Given the description of an element on the screen output the (x, y) to click on. 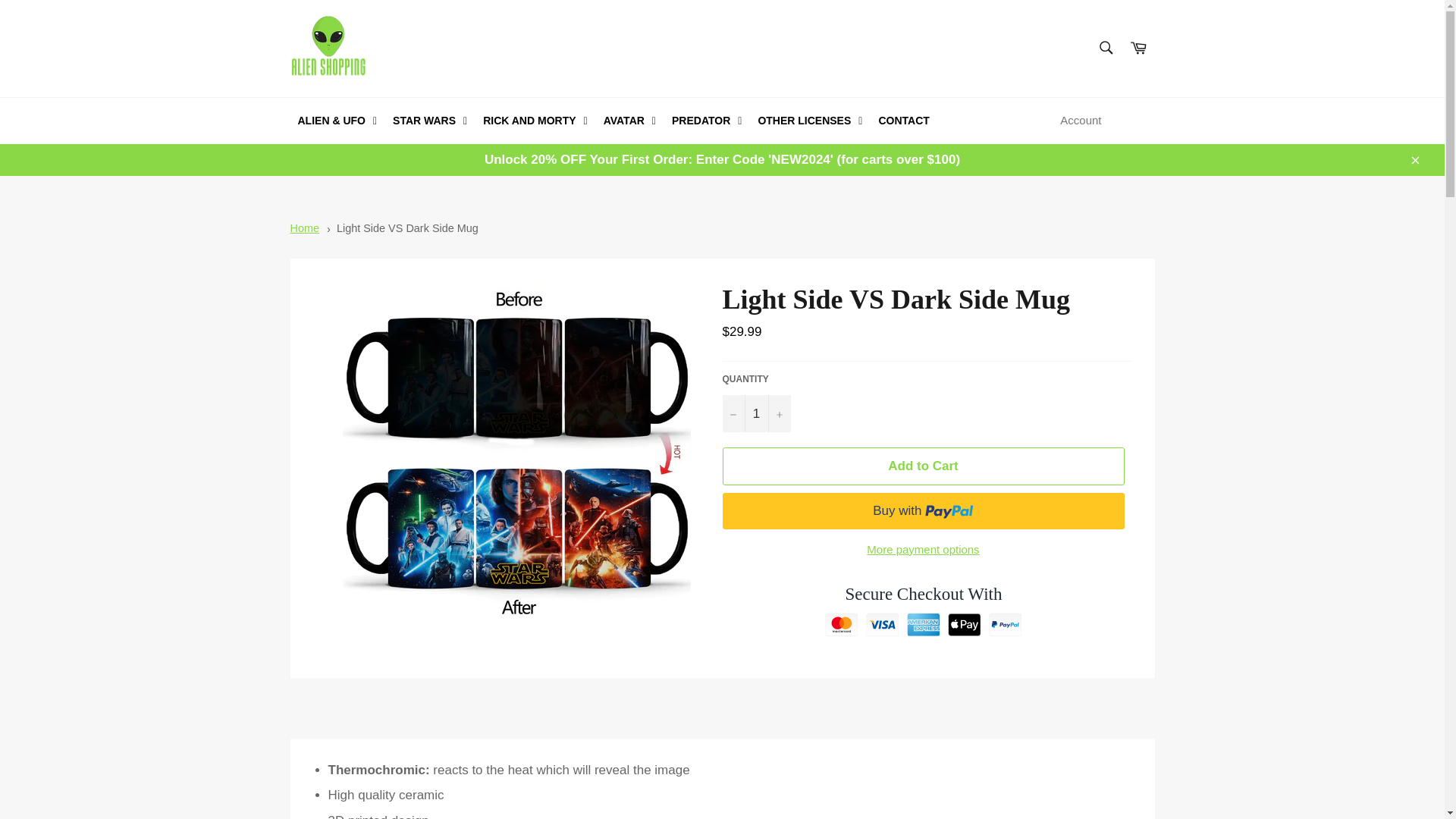
1 (756, 413)
